Given the description of an element on the screen output the (x, y) to click on. 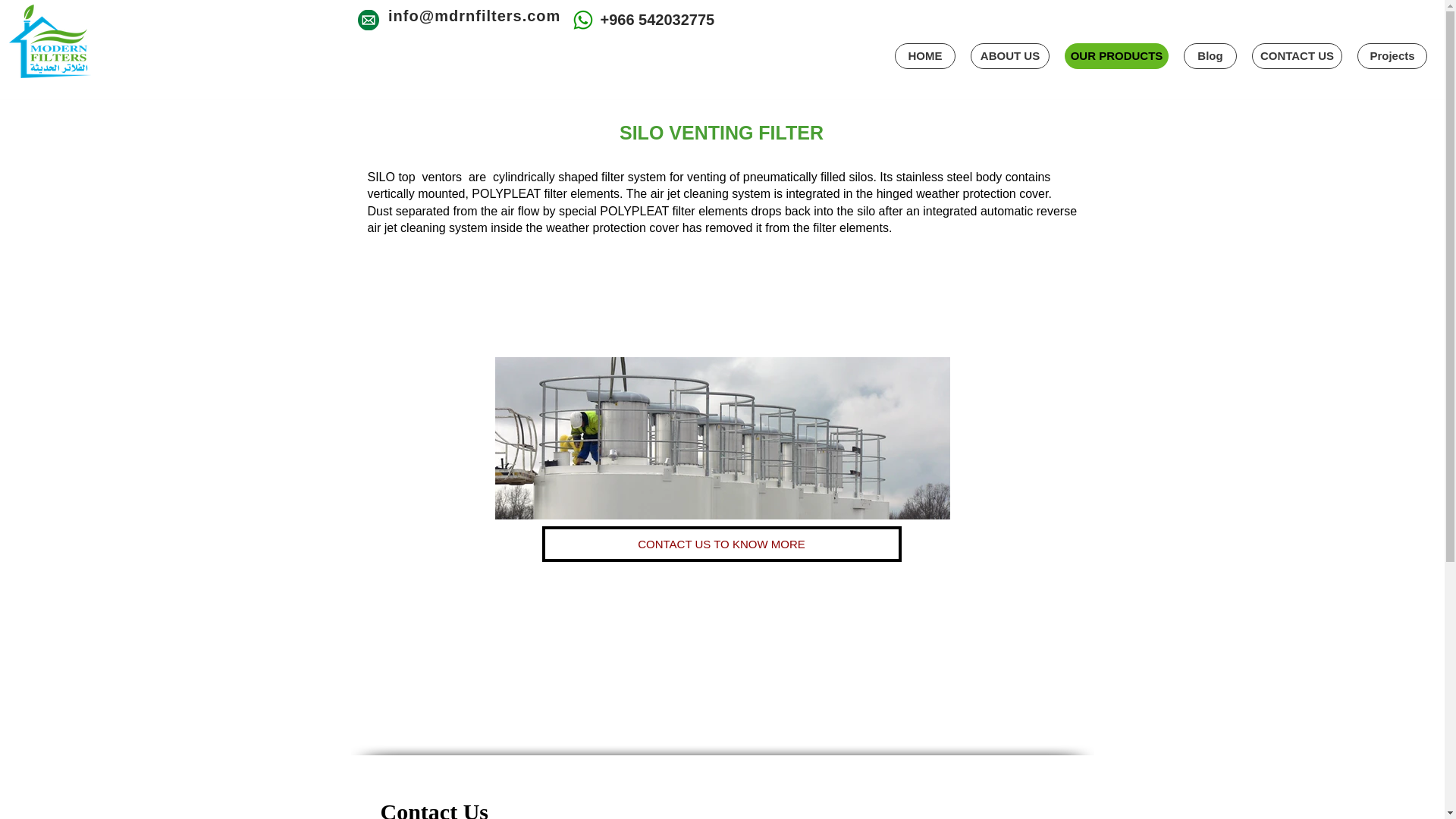
HOME (925, 55)
CONTACT US (1297, 55)
ABOUT US (1010, 55)
Blog (1209, 55)
Projects (1391, 55)
CONTACT US TO KNOW MORE (721, 543)
OUR PRODUCTS (1116, 55)
our passion clean air (49, 40)
